Given the description of an element on the screen output the (x, y) to click on. 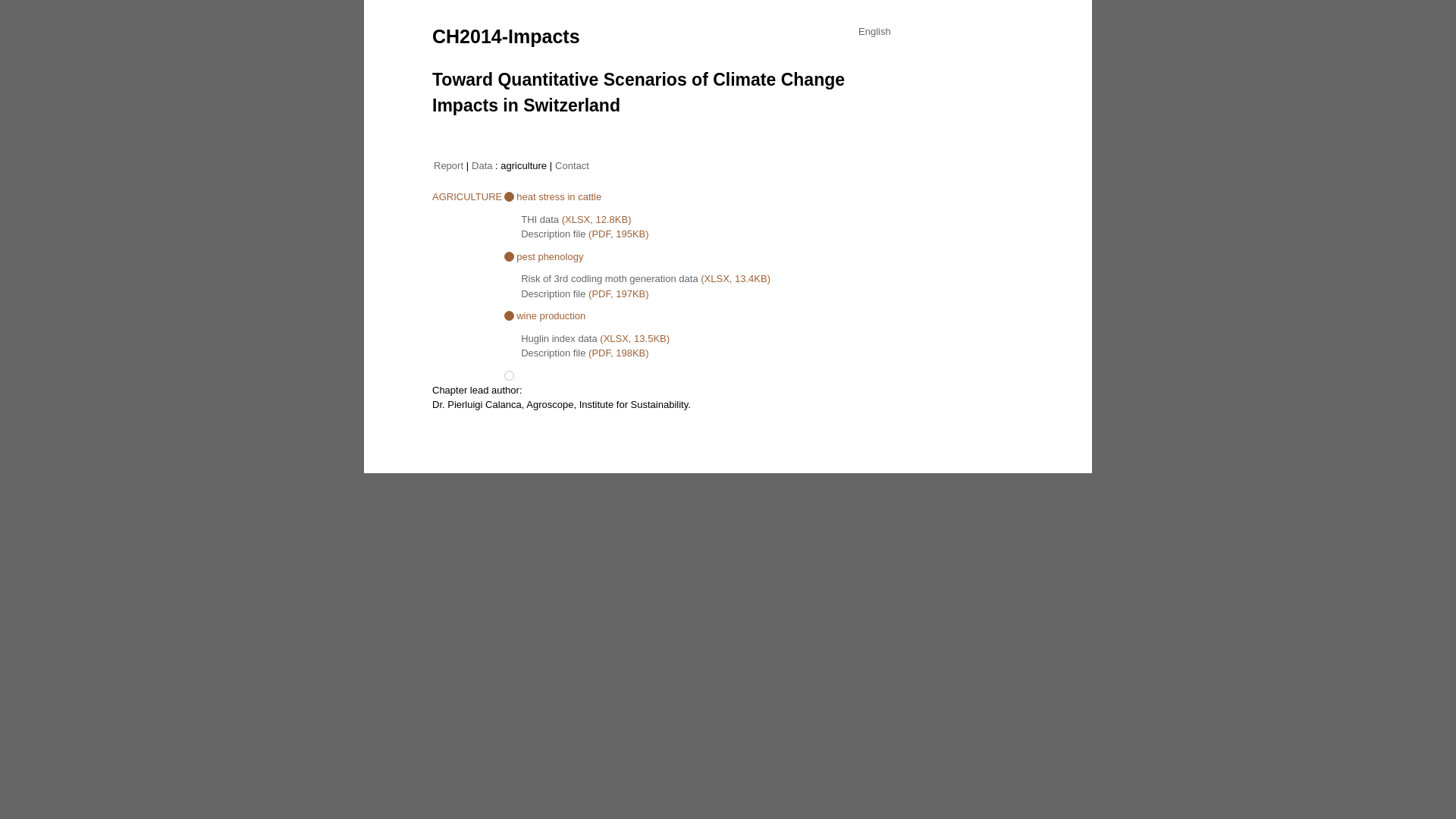
Contact Element type: text (572, 164)
THI data Element type: text (539, 219)
Description file Element type: text (552, 233)
Description file Element type: text (552, 352)
Data Element type: text (481, 164)
English Element type: text (874, 31)
Huglin index data Element type: text (558, 337)
Description file Element type: text (552, 293)
Risk of 3rd codling moth generation data Element type: text (608, 278)
Report Element type: text (448, 164)
